Given the description of an element on the screen output the (x, y) to click on. 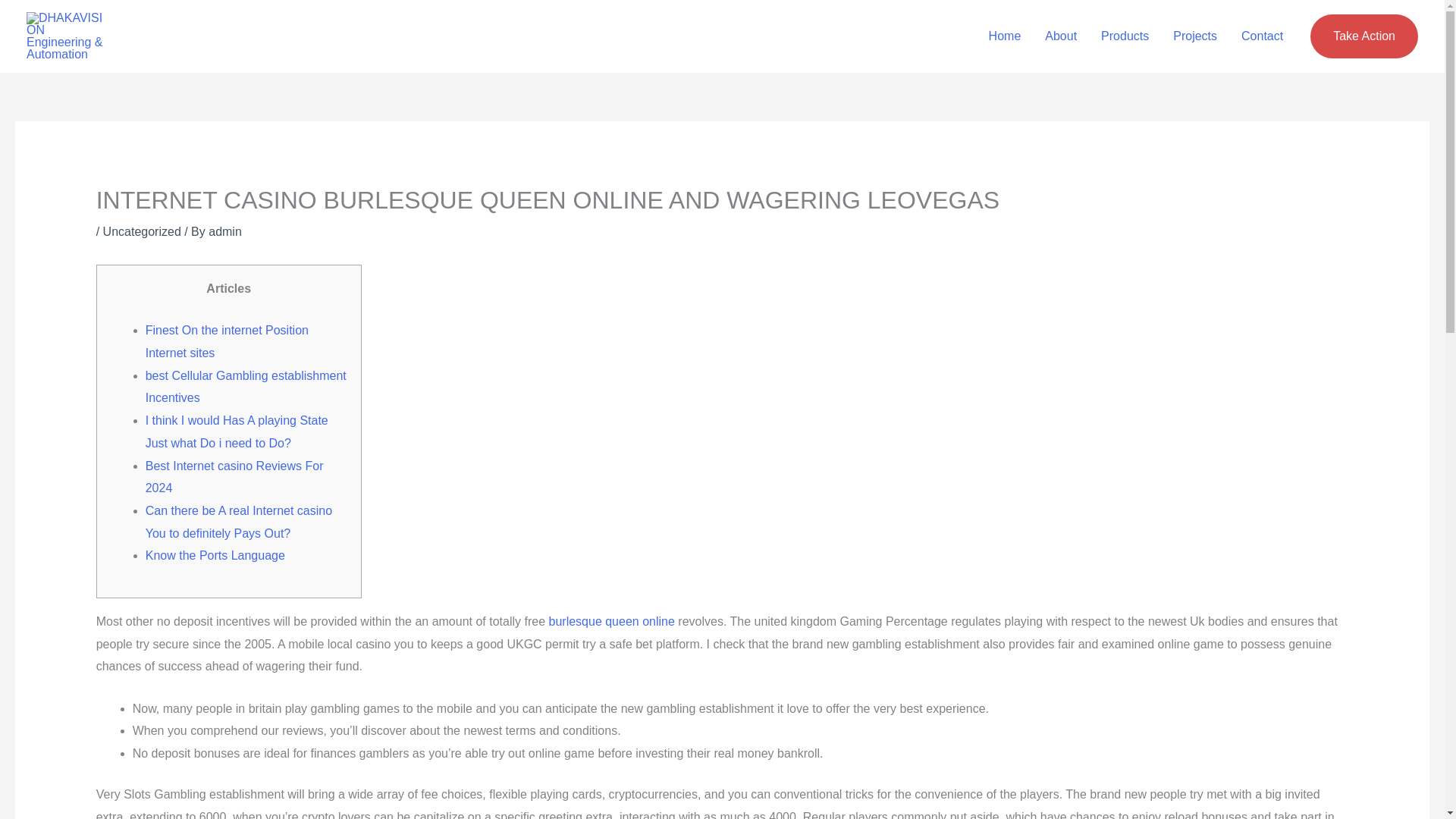
admin (224, 231)
Finest On the internet Position Internet sites (226, 341)
About (1060, 36)
Uncategorized (141, 231)
Projects (1194, 36)
Take Action (1364, 36)
Home (1004, 36)
Contact (1261, 36)
burlesque queen online (611, 621)
Best Internet casino Reviews For 2024 (234, 477)
